Given the description of an element on the screen output the (x, y) to click on. 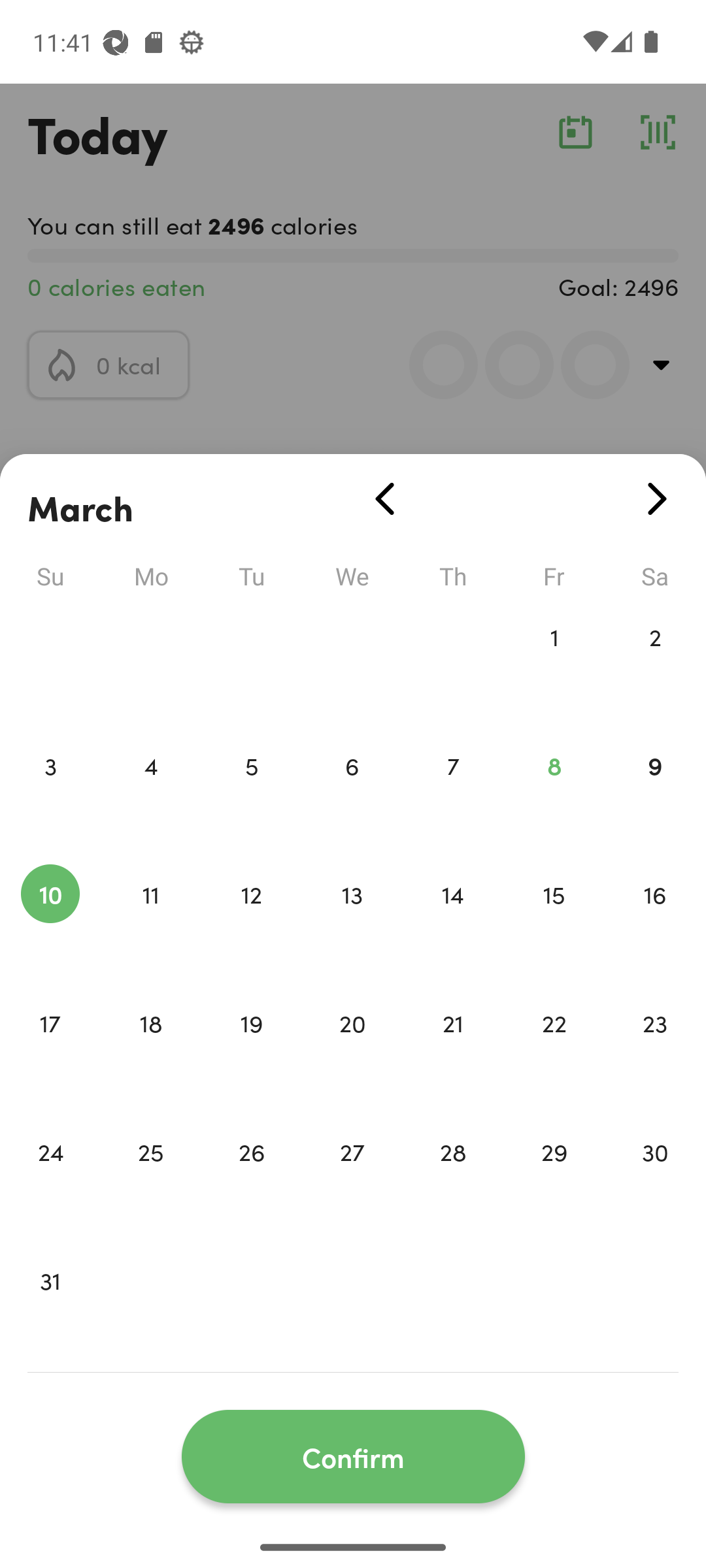
1 (554, 663)
2 (655, 663)
3 (50, 793)
4 (150, 793)
5 (251, 793)
6 (352, 793)
7 (453, 793)
8 (554, 793)
9 (655, 793)
10 (50, 921)
11 (150, 921)
12 (251, 921)
13 (352, 921)
14 (453, 921)
15 (554, 921)
16 (655, 921)
17 (50, 1050)
18 (150, 1050)
19 (251, 1050)
20 (352, 1050)
21 (453, 1050)
22 (554, 1050)
23 (655, 1050)
24 (50, 1178)
25 (150, 1178)
26 (251, 1178)
27 (352, 1178)
28 (453, 1178)
29 (554, 1178)
30 (655, 1178)
31 (50, 1307)
Confirm (353, 1456)
